Given the description of an element on the screen output the (x, y) to click on. 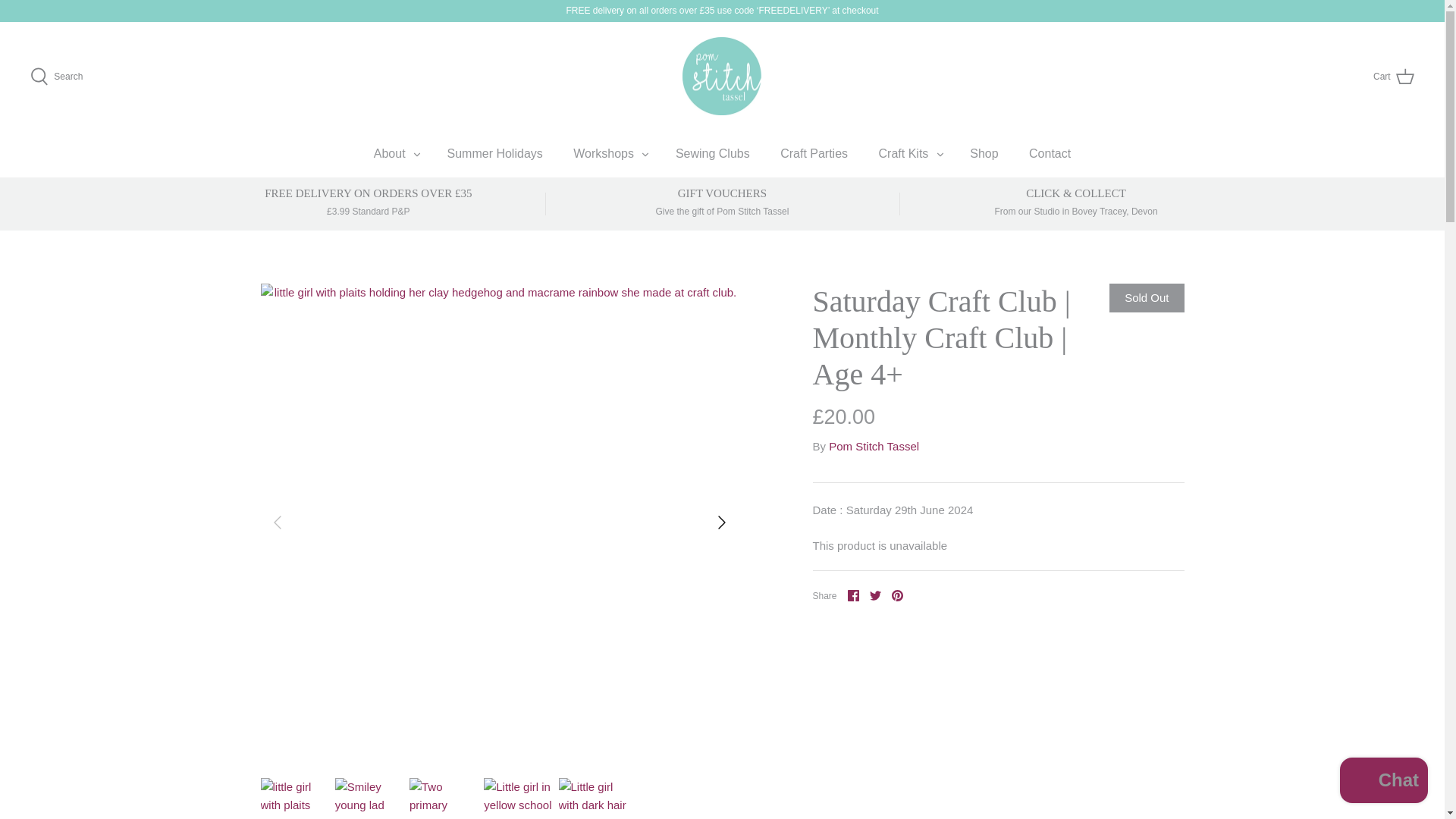
LEFT (276, 522)
Pom Stitch Tassel (721, 76)
Craft Parties (814, 153)
RIGHT (721, 522)
Shop (983, 153)
Contact (721, 201)
Facebook (1049, 153)
Pinterest (853, 595)
Summer Holidays (896, 595)
Search (494, 153)
Craft Kits (56, 75)
Cart (903, 153)
Twitter (1393, 75)
Workshops (874, 595)
